Given the description of an element on the screen output the (x, y) to click on. 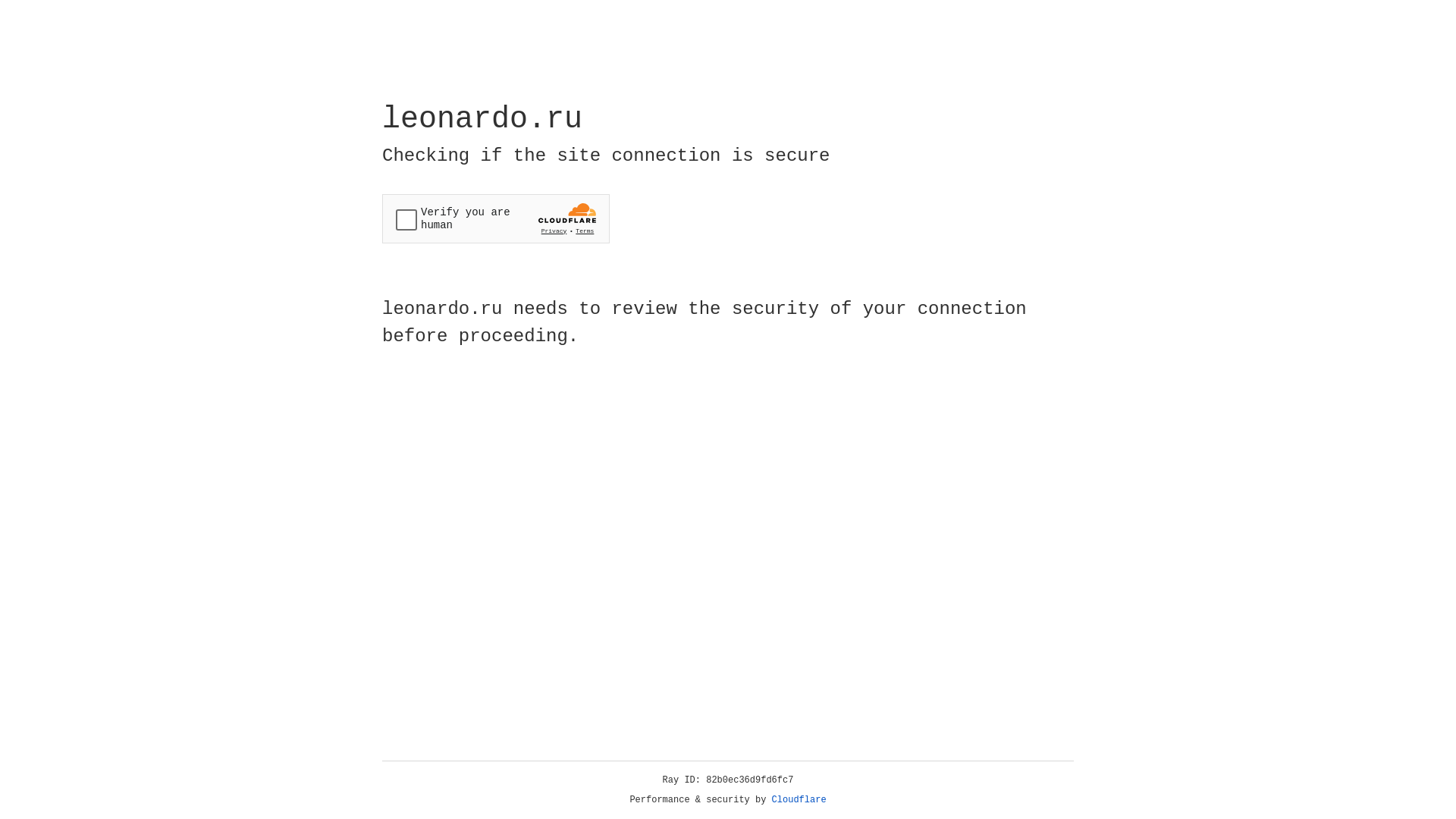
Cloudflare Element type: text (798, 799)
Widget containing a Cloudflare security challenge Element type: hover (495, 218)
